Given the description of an element on the screen output the (x, y) to click on. 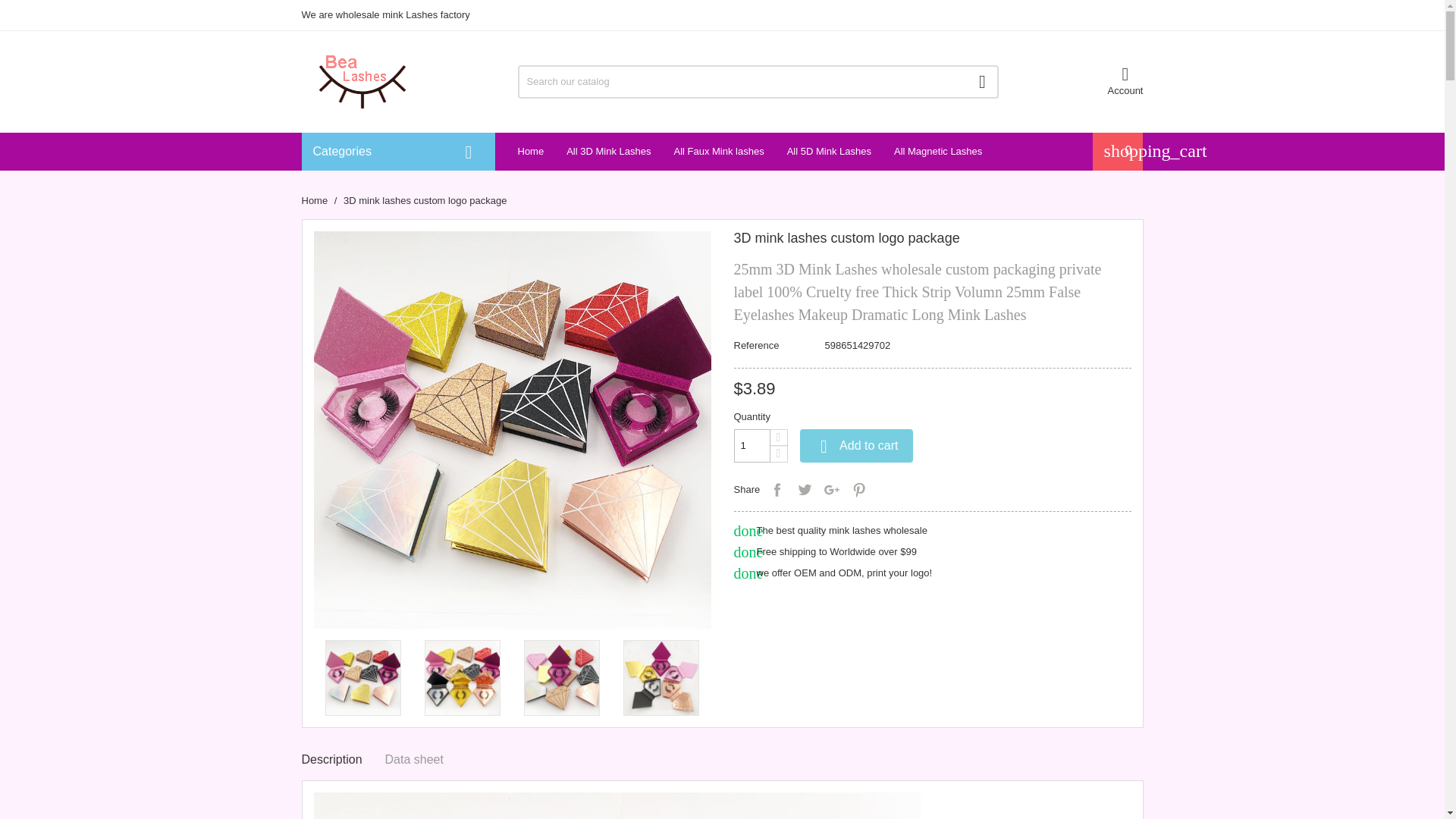
3D mink lashes custom logo package (424, 199)
All Magnetic Lashes (937, 150)
Home (315, 199)
Pinterest (858, 489)
Pinterest (858, 489)
All Faux Mink lashes (718, 150)
Description (331, 760)
Home (531, 150)
Share (777, 489)
1 (751, 445)
